Given the description of an element on the screen output the (x, y) to click on. 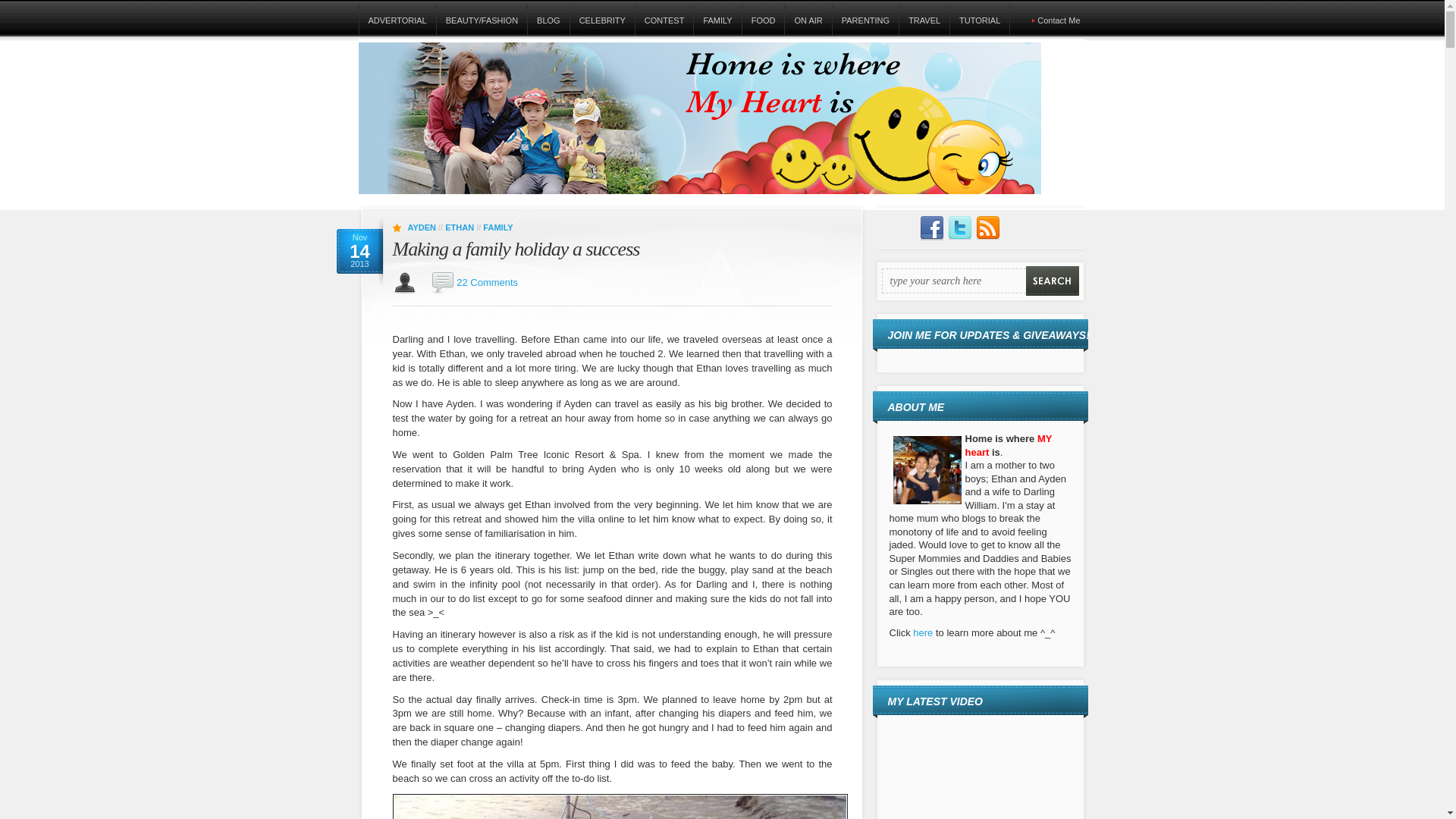
CELEBRITY (601, 20)
AYDEN (421, 226)
TUTORIAL (979, 20)
FAMILY (717, 20)
BLOG (548, 20)
CONTEST (664, 20)
type your search here (952, 280)
FAMILY (497, 226)
FOOD (762, 20)
ETHAN (459, 226)
ON AIR (807, 20)
PARENTING (864, 20)
ADVERTORIAL (396, 20)
22 Comments (487, 282)
Contact Me (1058, 20)
